Given the description of an element on the screen output the (x, y) to click on. 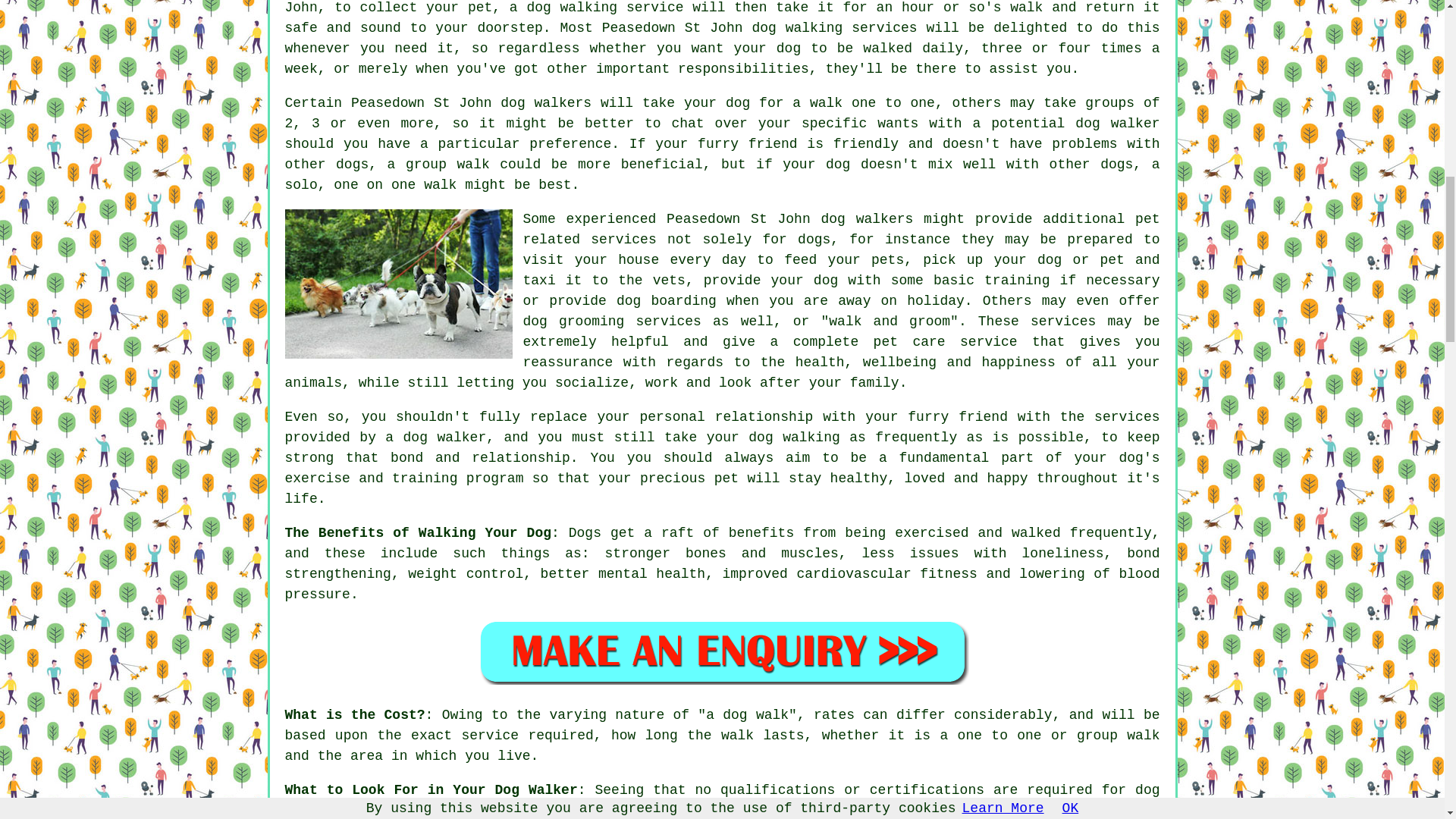
dog walkers (866, 218)
dog walking (571, 7)
Dog Walking Quotes in Peasedown St John Somerset (722, 651)
dog walkers (545, 102)
